Given the description of an element on the screen output the (x, y) to click on. 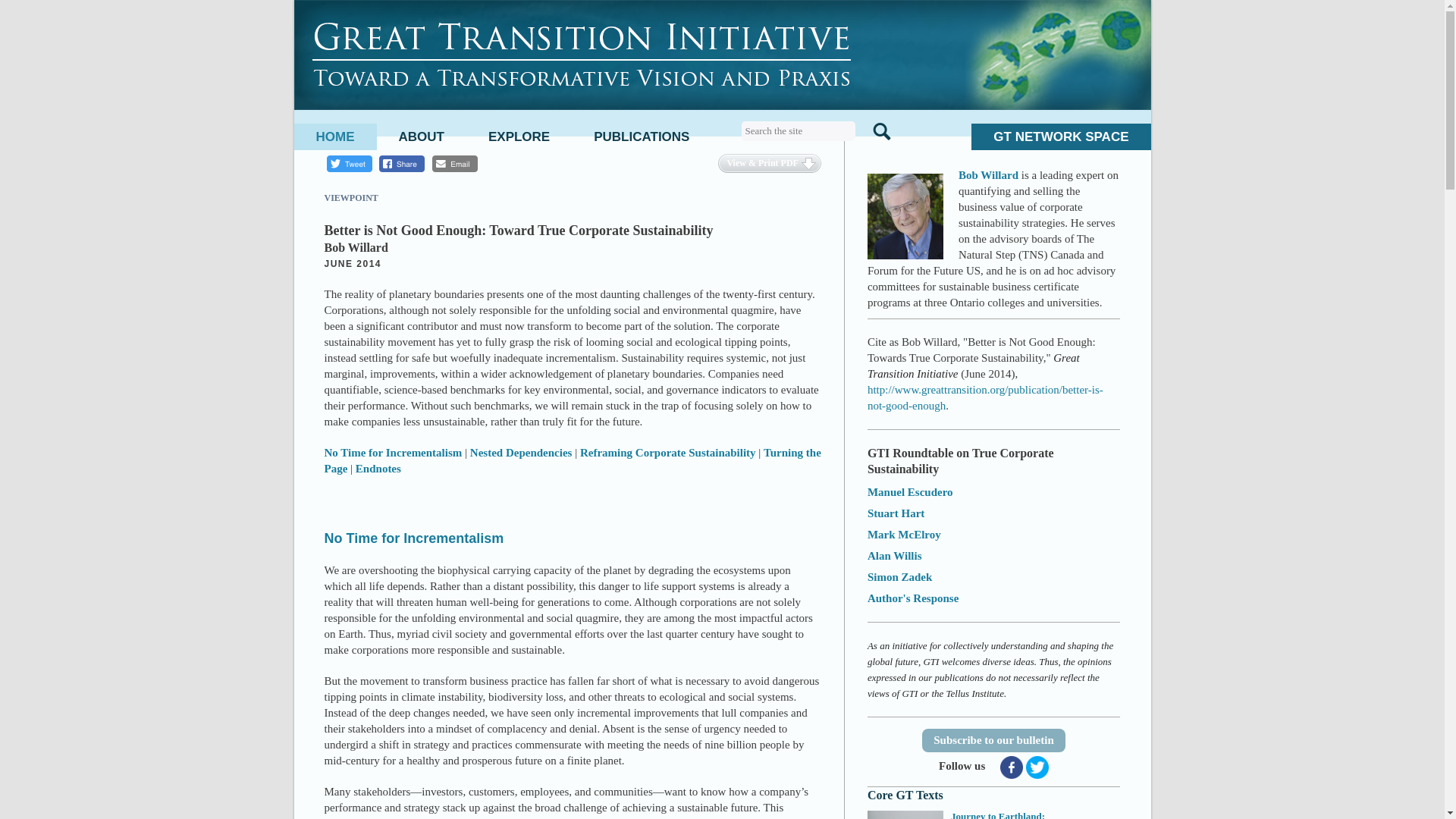
GT NETWORK SPACE (1060, 135)
Alan Willis (894, 555)
Manuel Escudero (910, 491)
No Time for Incrementalism (413, 538)
Mark McElroy (903, 534)
PUBLICATIONS (641, 135)
Simon Zadek (899, 576)
EXPLORE (518, 135)
Bob Willard (905, 215)
Reframing Corporate Sustainability (667, 452)
